Given the description of an element on the screen output the (x, y) to click on. 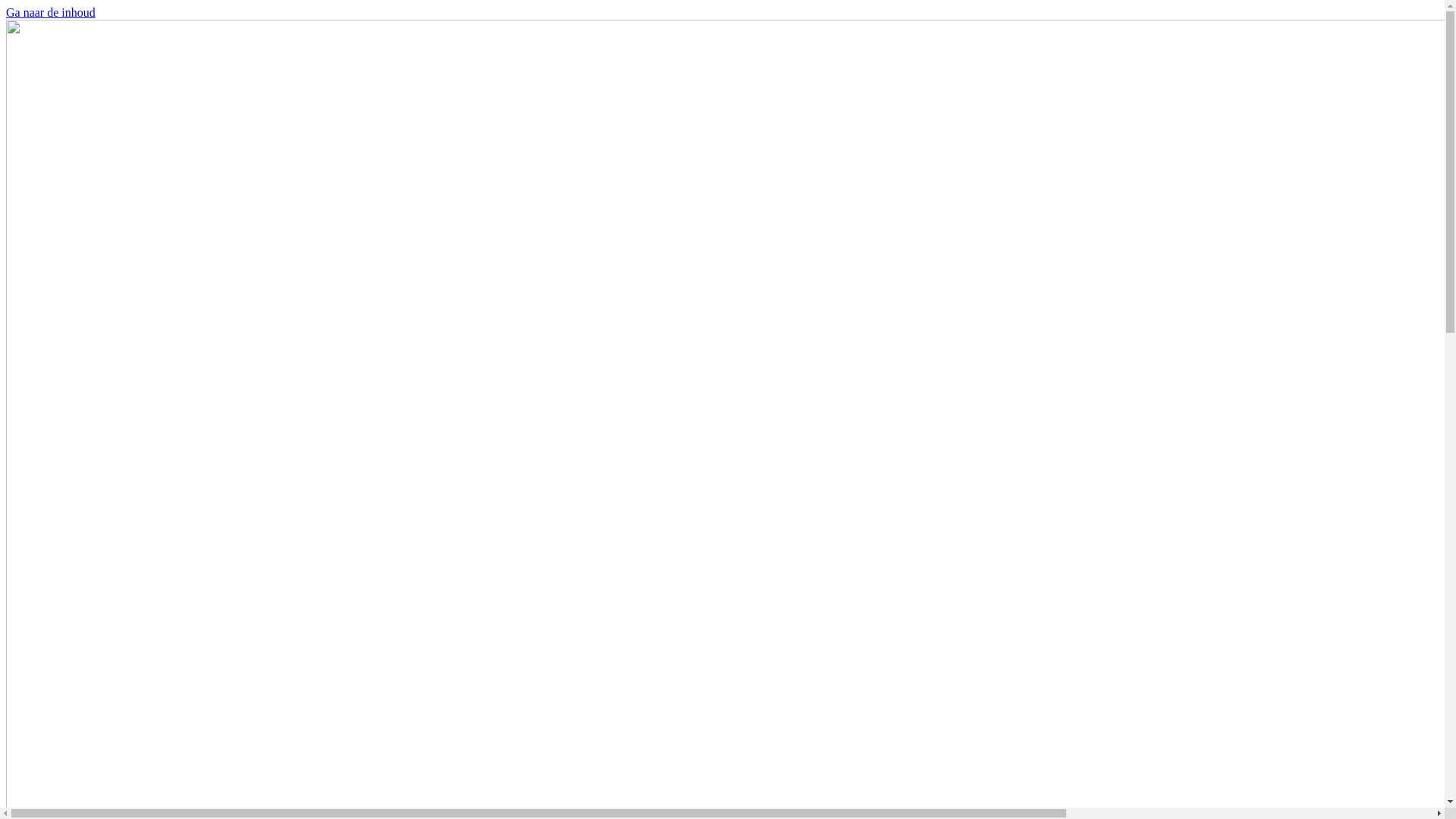
Ga naar de inhoud Element type: text (50, 12)
